Given the description of an element on the screen output the (x, y) to click on. 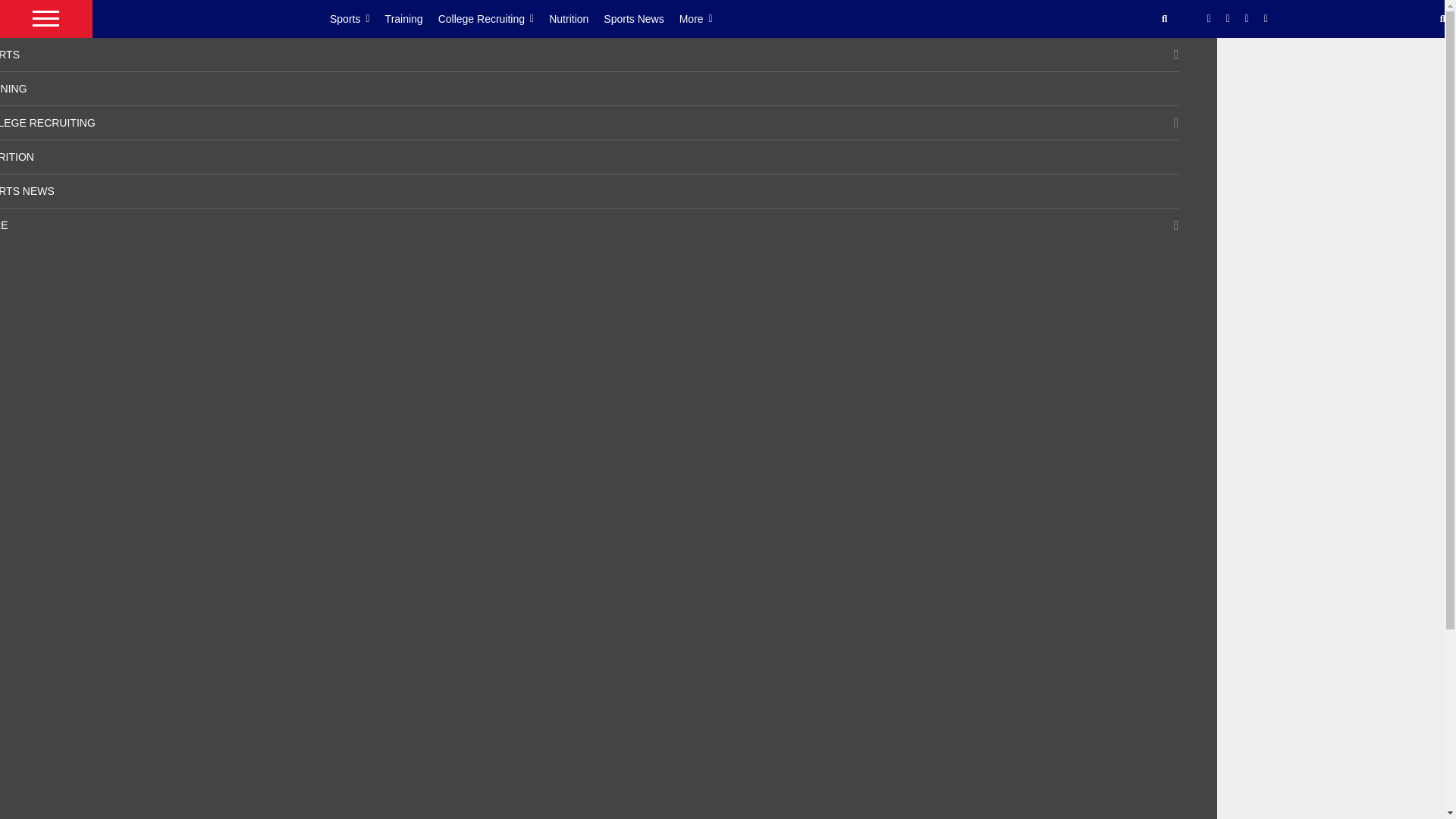
SPORTS (10, 54)
Nutrition (576, 18)
College Recruiting (494, 18)
Sports News (641, 18)
Training (411, 18)
Sports (357, 18)
More (703, 18)
